Given the description of an element on the screen output the (x, y) to click on. 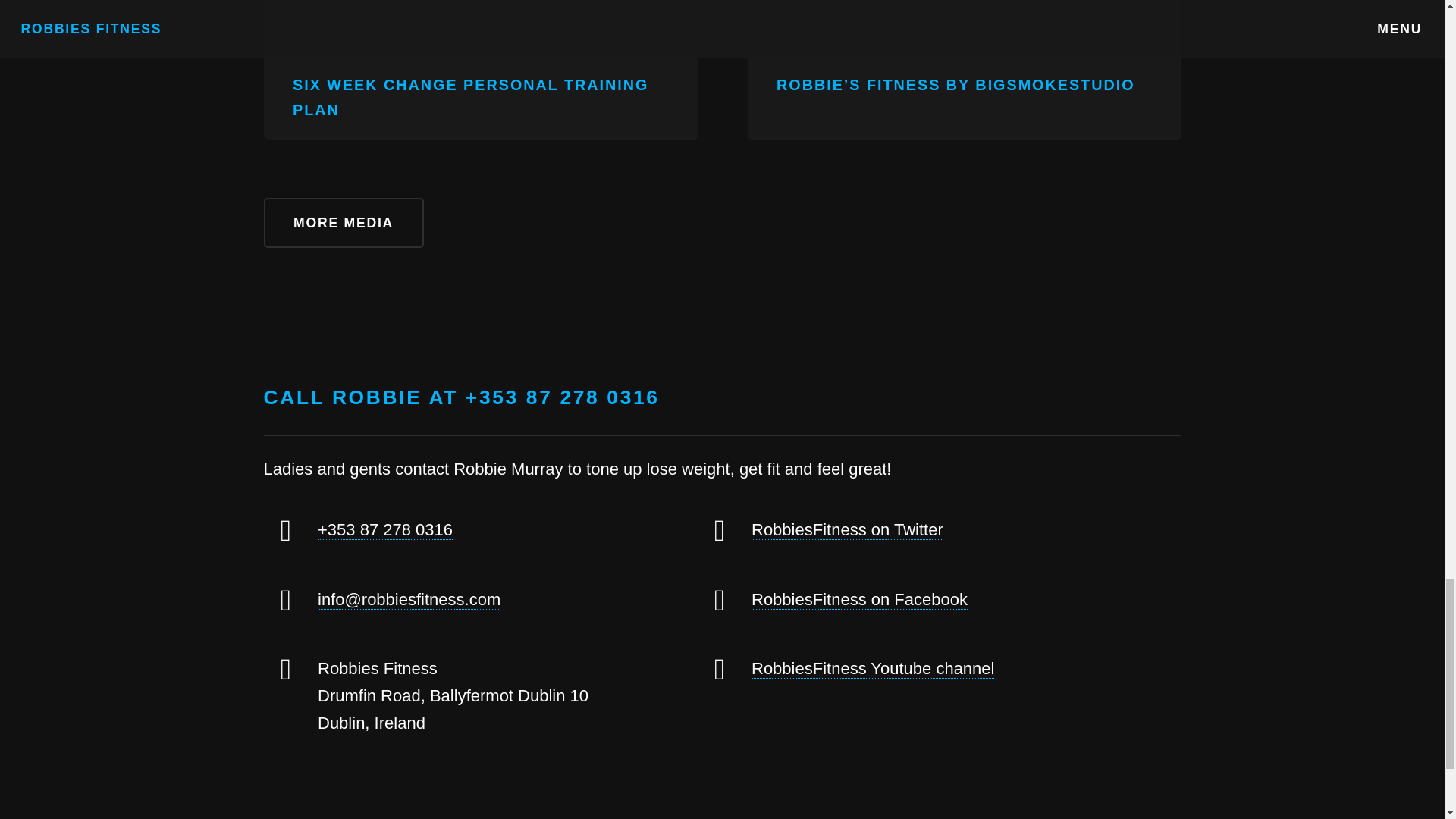
RobbiesFitness Youtube channel (872, 668)
MORE MEDIA (343, 223)
RobbiesFitness on Facebook (859, 599)
RobbiesFitness on Twitter (847, 529)
